Given the description of an element on the screen output the (x, y) to click on. 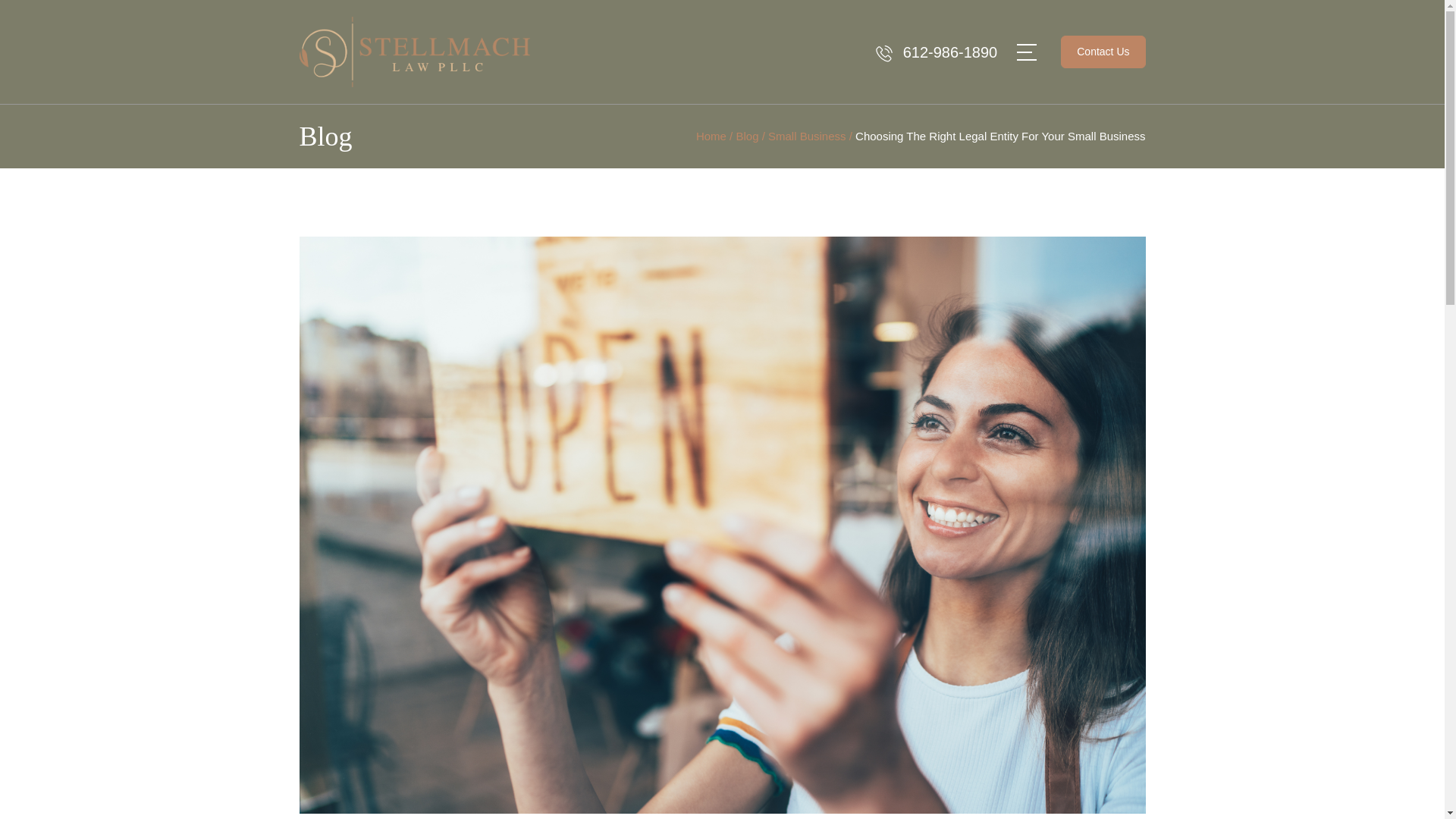
Contact Us (1102, 51)
Go to Blog. (746, 135)
Go to Stellmach Law PLLC. (710, 135)
Small Business (806, 135)
Home (710, 135)
612-986-1890 (949, 52)
Go to the Small Business Category archives. (806, 135)
Blog (746, 135)
